Given the description of an element on the screen output the (x, y) to click on. 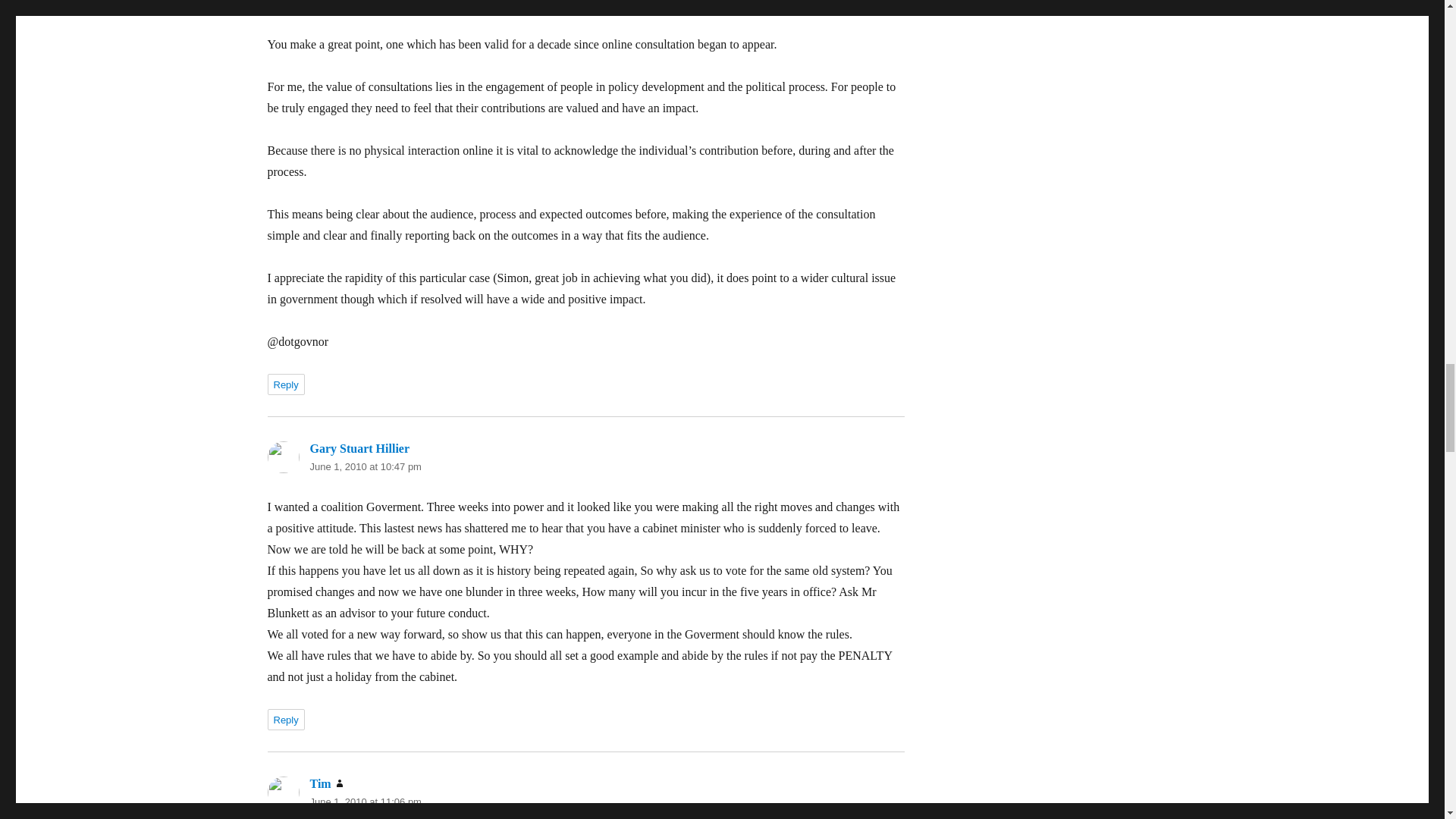
Gary Stuart Hillier (358, 448)
June 1, 2010 at 11:06 pm (364, 801)
Reply (285, 719)
Tim (319, 783)
June 1, 2010 at 10:47 pm (364, 466)
Reply (285, 383)
